Given the description of an element on the screen output the (x, y) to click on. 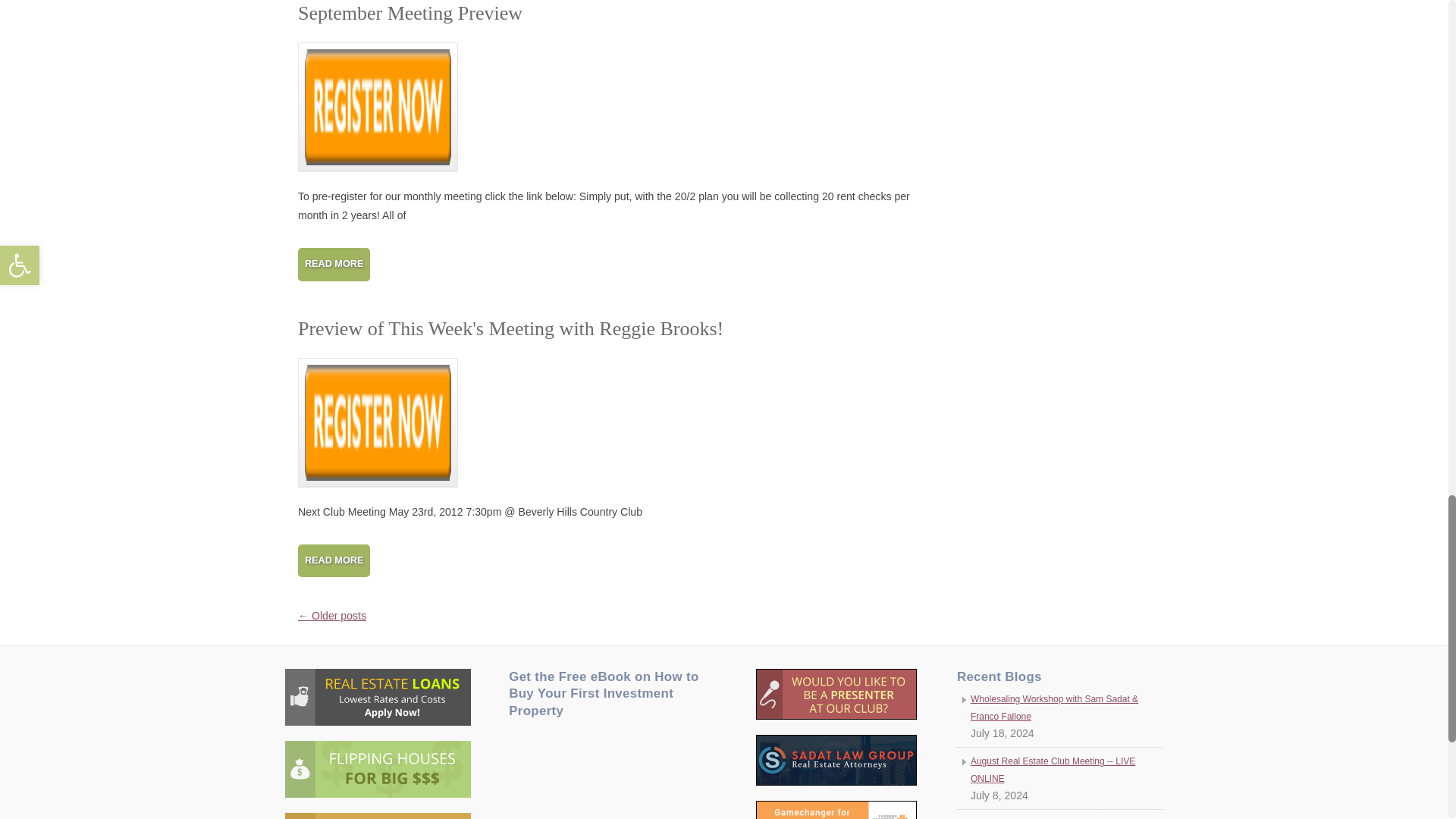
Permanent Link to September Meeting Preview (410, 13)
